Given the description of an element on the screen output the (x, y) to click on. 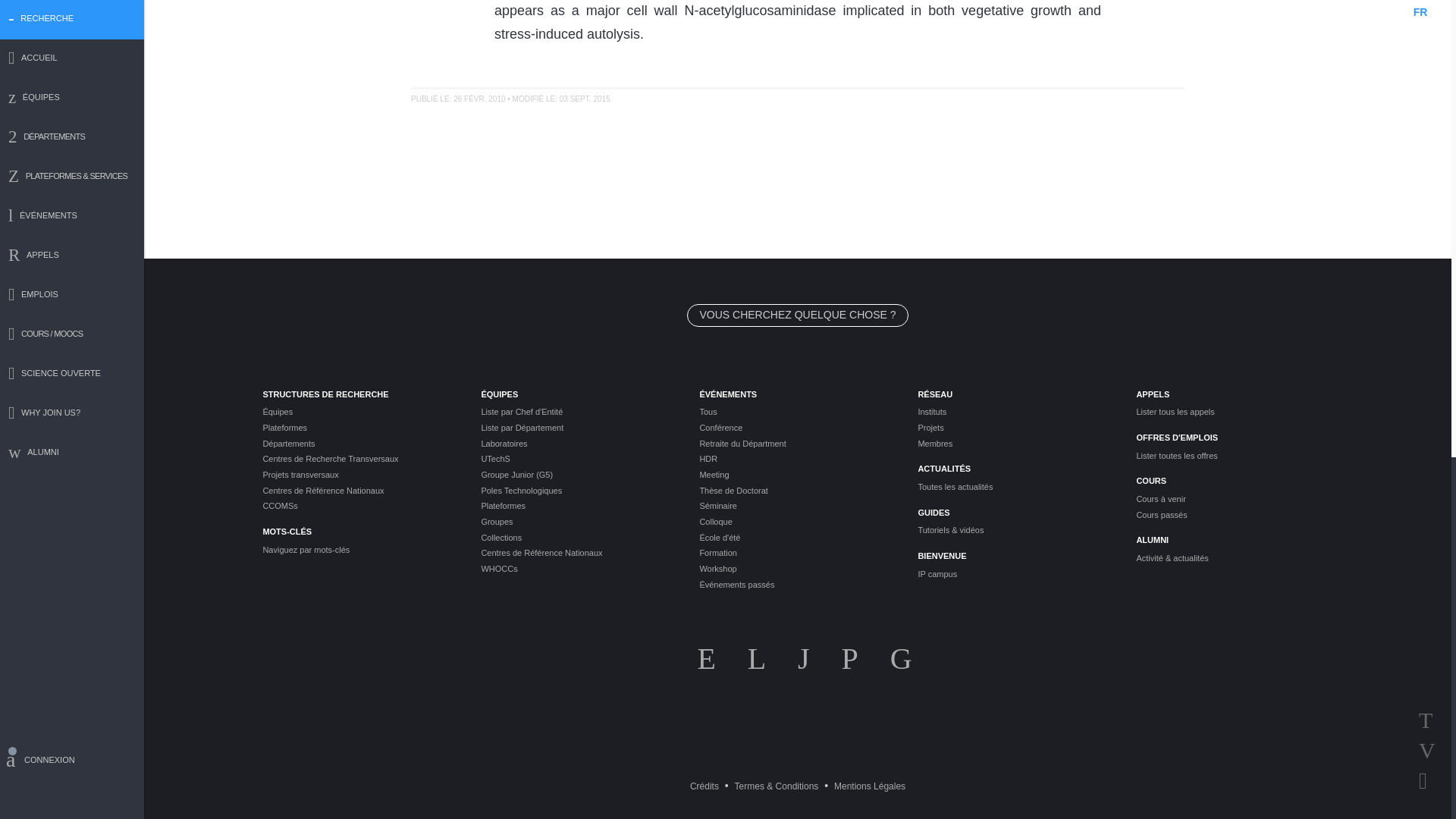
Plateformes (360, 427)
